Given the description of an element on the screen output the (x, y) to click on. 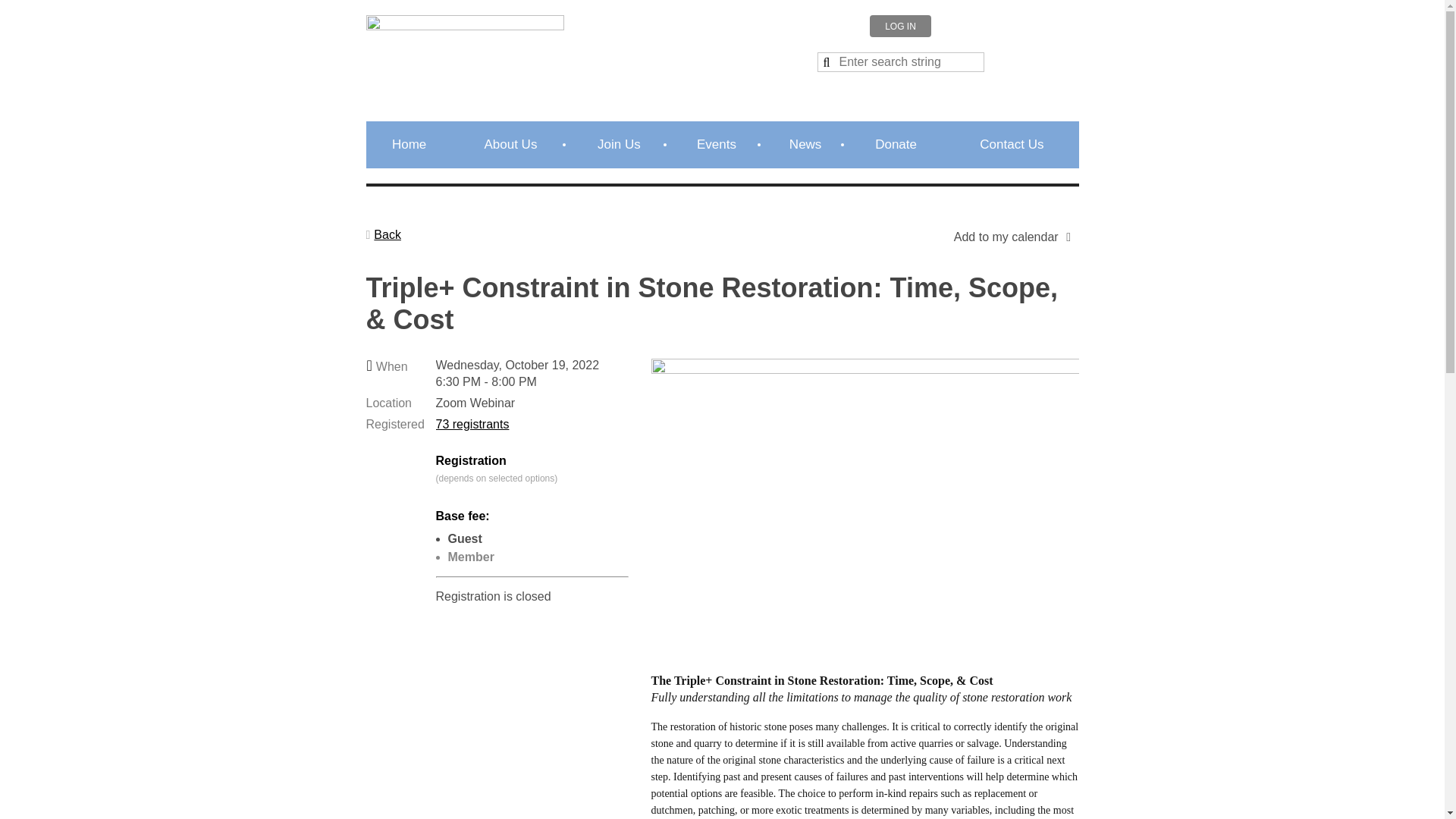
Back (382, 234)
Join Us (618, 144)
Home (408, 144)
Events  (716, 144)
LOG IN (900, 25)
Home (408, 144)
Donate (895, 144)
Events (716, 144)
73 registrants (471, 423)
News (804, 144)
About Us (510, 144)
About Us (510, 144)
News (804, 144)
Contact Us (1011, 144)
Join Us (618, 144)
